Given the description of an element on the screen output the (x, y) to click on. 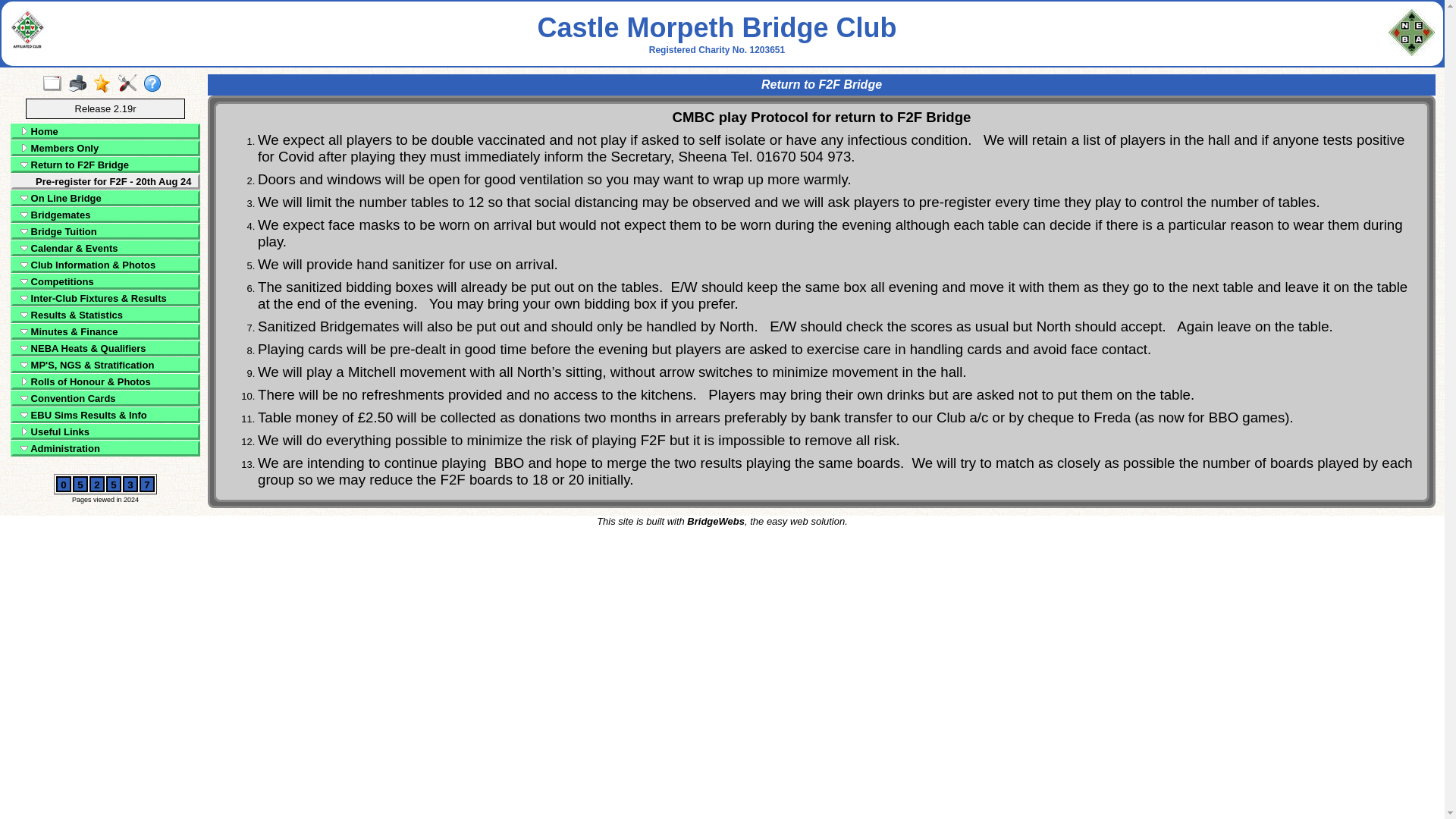
Latest Enhancements (105, 84)
 Administration (109, 448)
 Members Only (109, 147)
 On Line Bridge (109, 197)
Print Page (80, 84)
 Home (109, 131)
BridgeWebs (715, 521)
Help (154, 84)
Full Screen (54, 84)
